Given the description of an element on the screen output the (x, y) to click on. 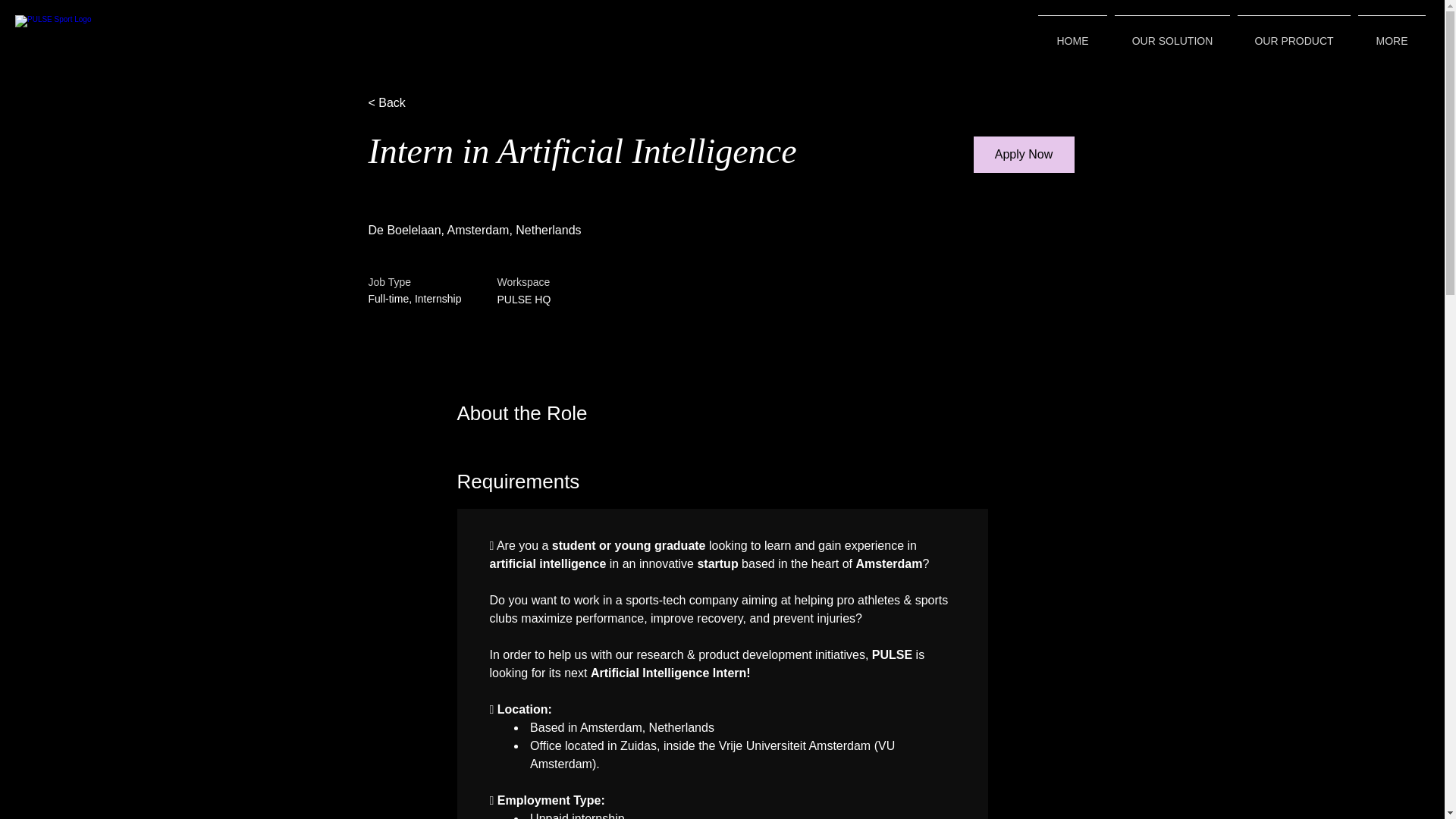
Free Demo (936, 27)
Apply Now (1024, 154)
OUR PRODUCT (1293, 34)
OUR SOLUTION (1171, 34)
HOME (1071, 34)
